Given the description of an element on the screen output the (x, y) to click on. 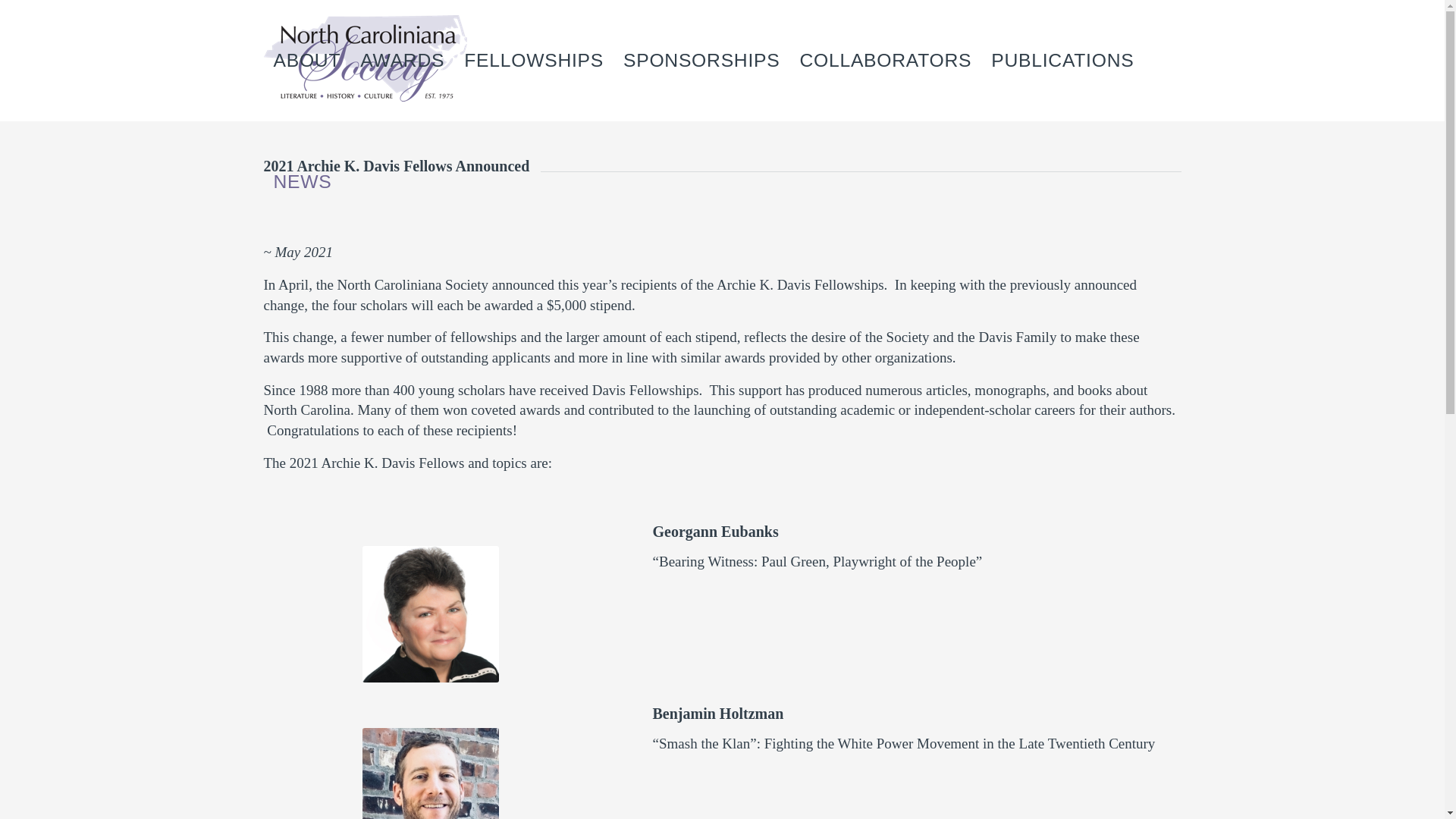
Eubanks photo copy (430, 614)
PUBLICATIONS (1061, 60)
FELLOWSHIPS (533, 60)
Holtzman photo copy (430, 773)
COLLABORATORS (885, 60)
SPONSORSHIPS (700, 60)
